Given the description of an element on the screen output the (x, y) to click on. 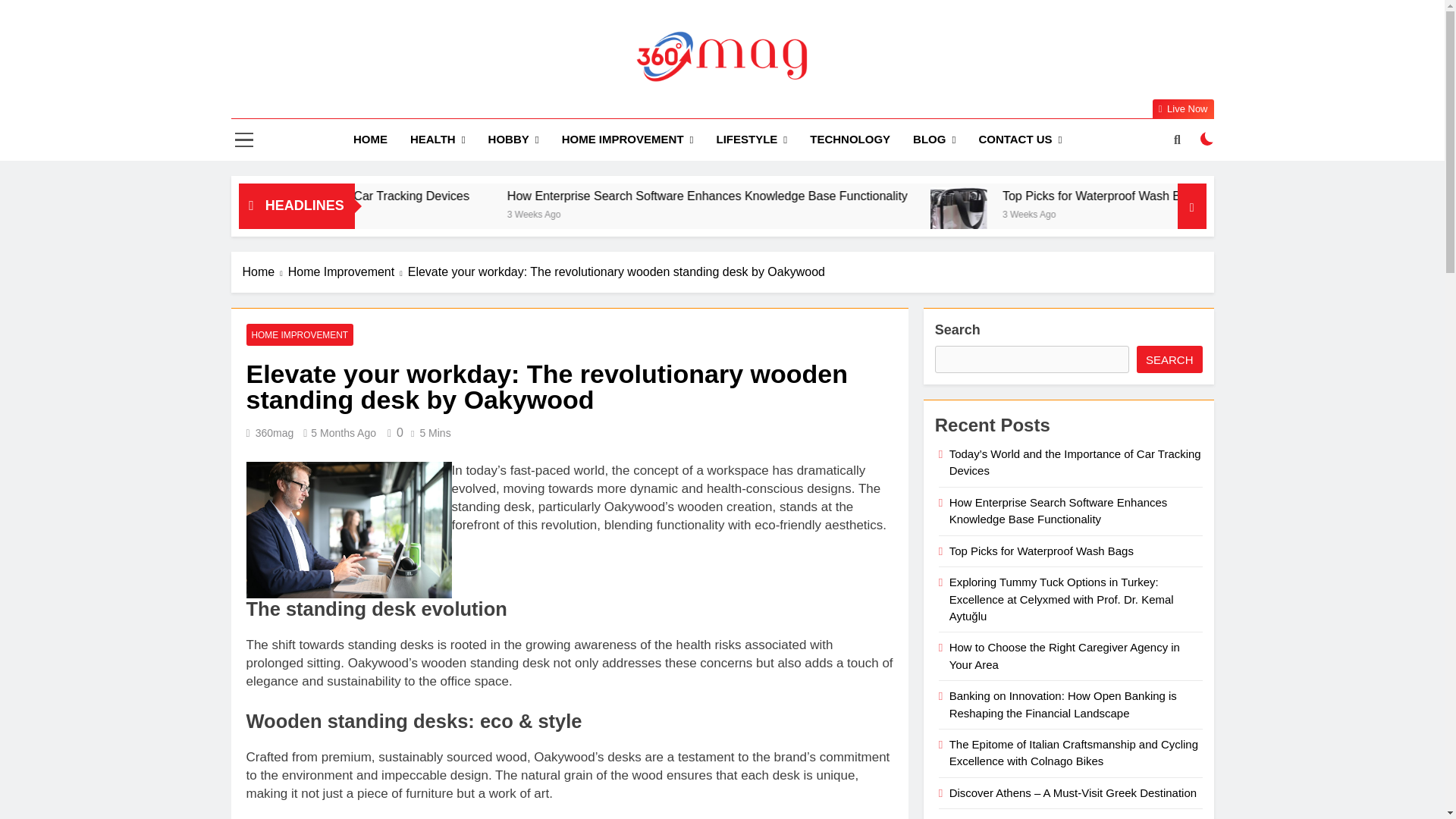
3 Weeks Ago (725, 213)
HOME IMPROVEMENT (627, 139)
on (1206, 138)
HOBBY (513, 139)
HOME (370, 138)
BLOG (933, 139)
2 Weeks Ago (377, 213)
LIFESTYLE (750, 139)
CONTACT US (1019, 139)
TECHNOLOGY (849, 138)
Top Picks for Waterproof Wash Bags (1249, 196)
360Mag (539, 104)
Top Picks for Waterproof Wash Bags (1111, 215)
